Given the description of an element on the screen output the (x, y) to click on. 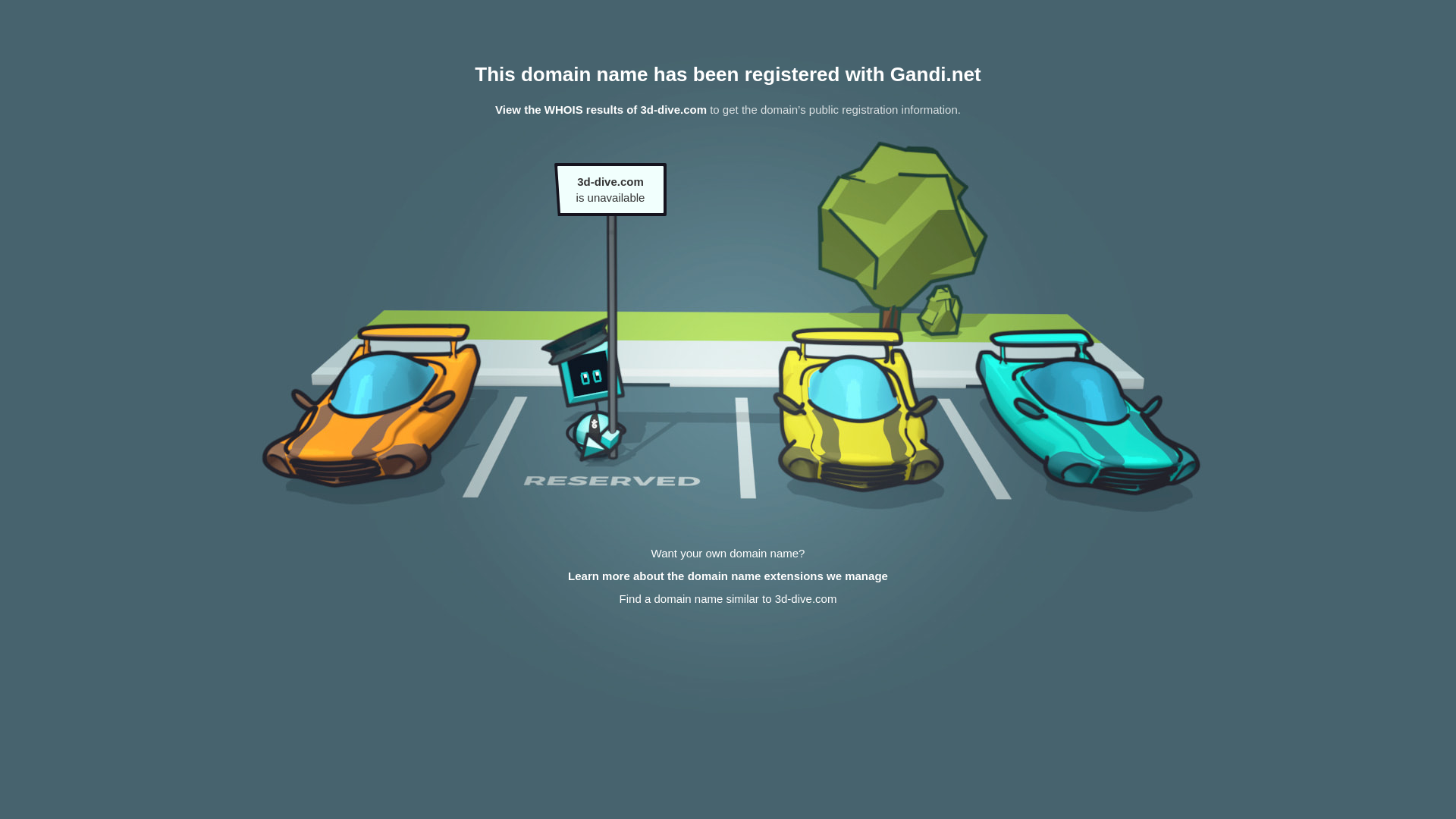
Learn more about the domain name extensions we manage Element type: text (727, 575)
View the WHOIS results of 3d-dive.com Element type: text (600, 109)
Find a domain name similar to 3d-dive.com Element type: text (728, 598)
